Given the description of an element on the screen output the (x, y) to click on. 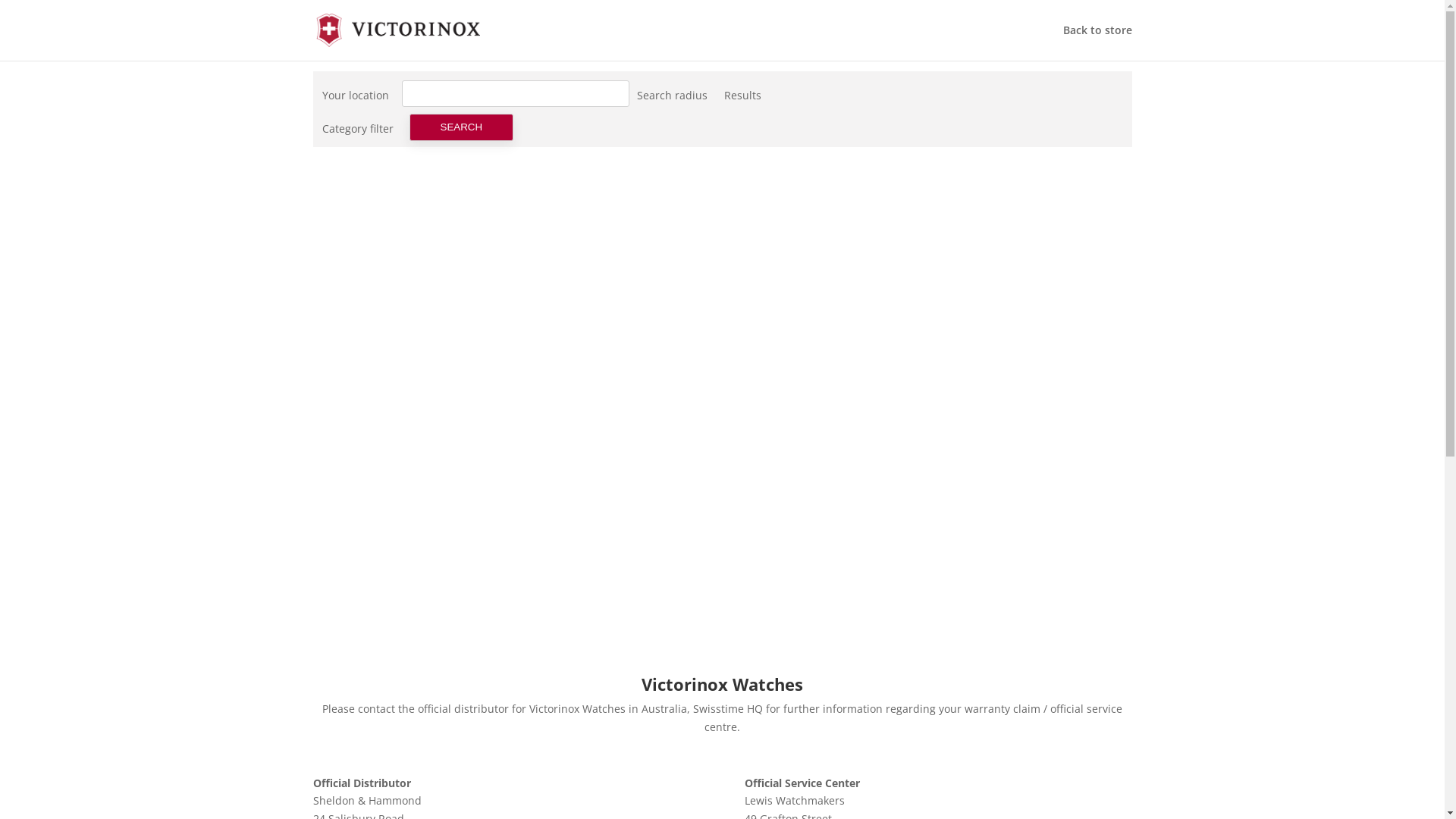
Search Element type: text (461, 127)
Back to store Element type: text (1097, 42)
